Given the description of an element on the screen output the (x, y) to click on. 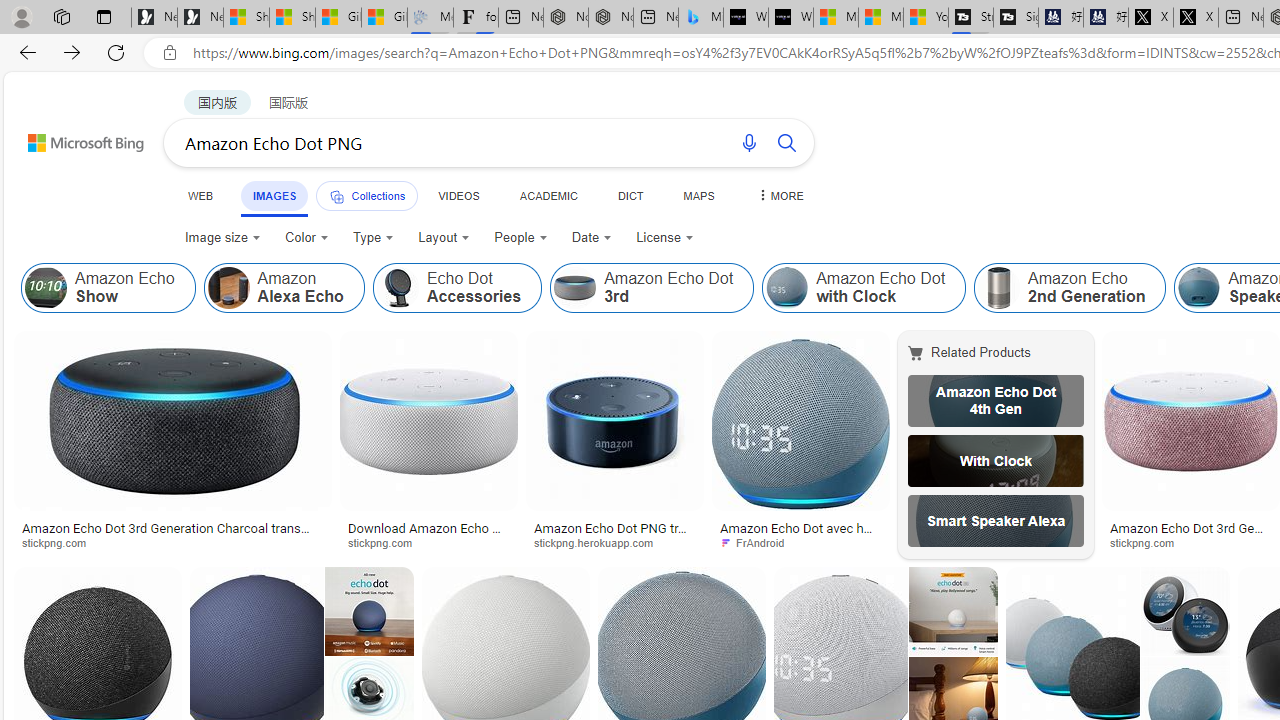
Amazon Alexa Echo (228, 287)
IMAGES (274, 195)
License (665, 237)
stickpng.com (1149, 541)
License (664, 237)
Amazon Alexa Echo (283, 287)
FrAndroid (758, 541)
Date (591, 237)
stickpng.herokuapp.com (600, 541)
